Given the description of an element on the screen output the (x, y) to click on. 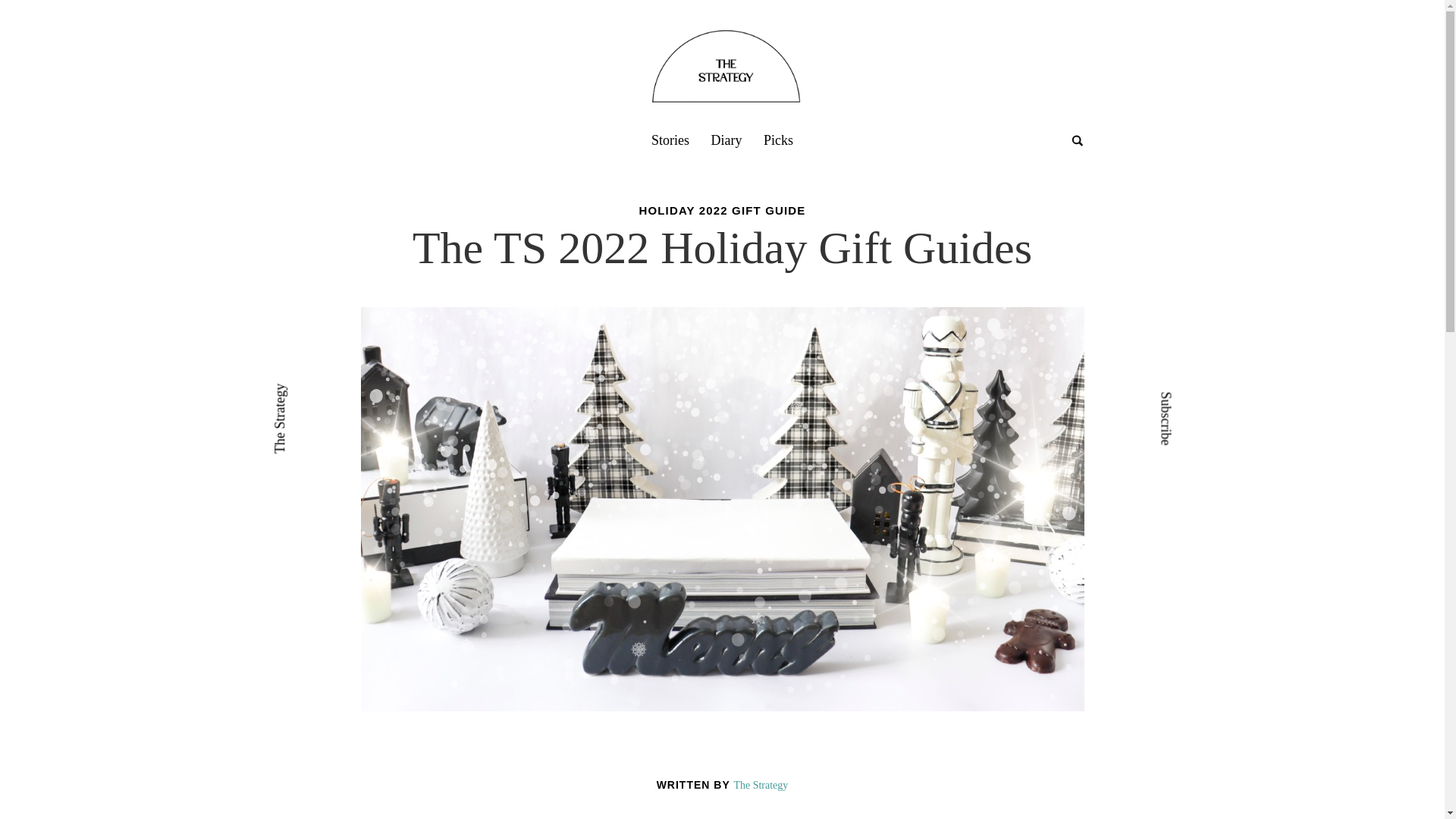
Diary (726, 140)
Picks (777, 140)
The Strategy (305, 393)
Stories (669, 140)
HOLIDAY 2022 GIFT GUIDE (722, 210)
The Strategy (760, 785)
